Given the description of an element on the screen output the (x, y) to click on. 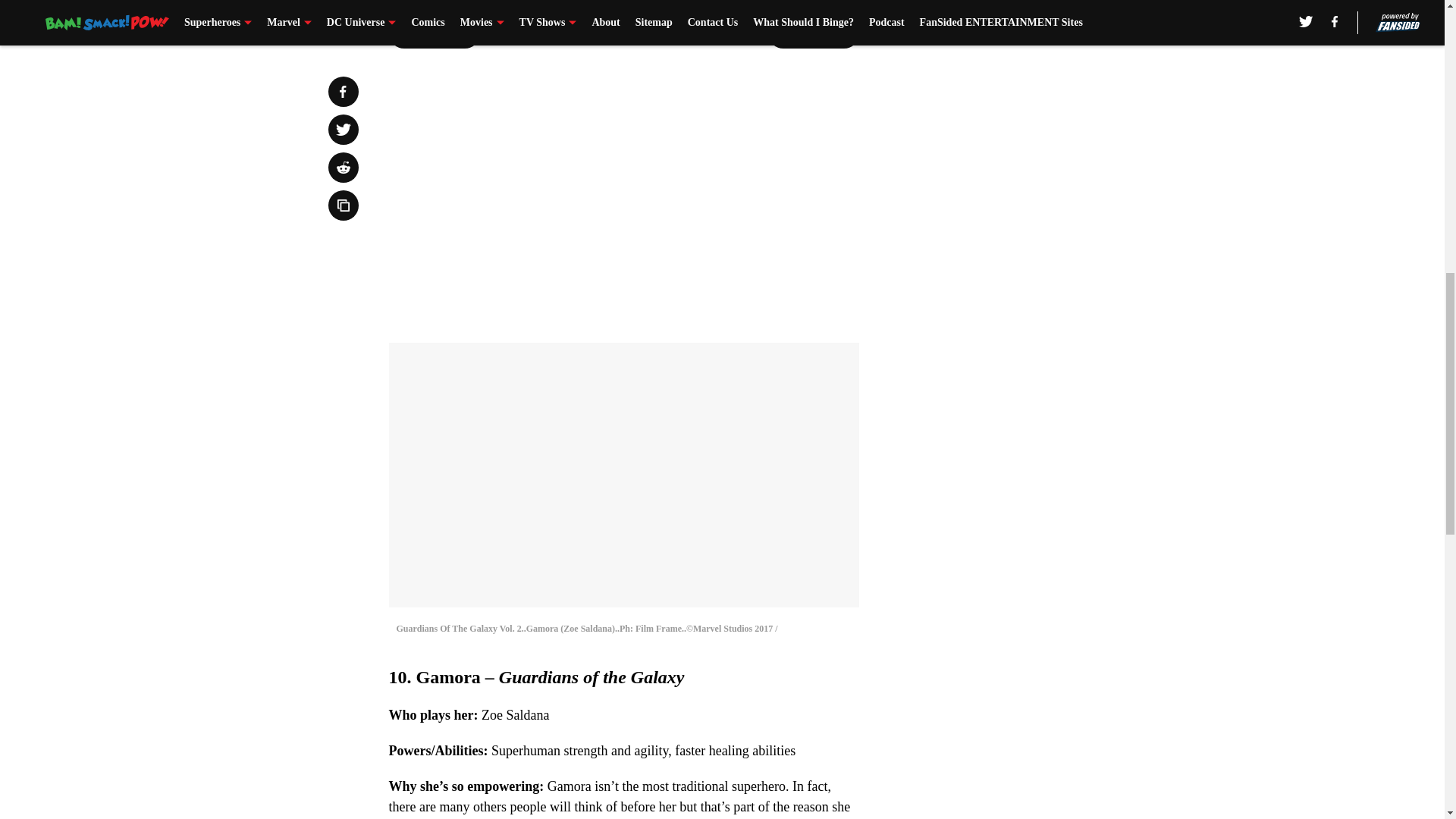
Prev (433, 33)
Next (813, 33)
